Given the description of an element on the screen output the (x, y) to click on. 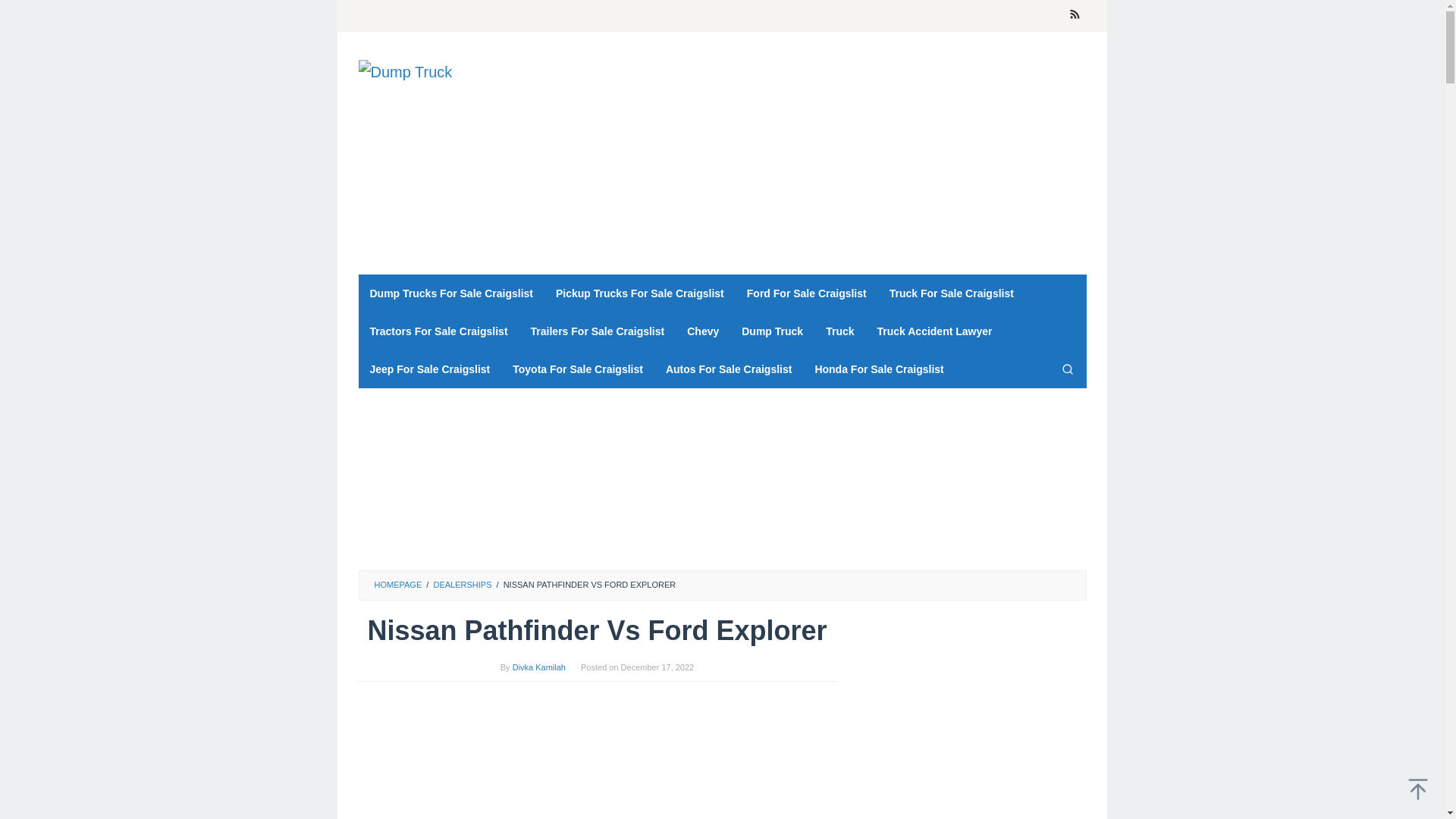
DEALERSHIPS (462, 583)
Jeep For Sale Craigslist (429, 369)
Permalink to: Divka Kamilah (539, 666)
Divka Kamilah (539, 666)
Chevy (702, 331)
Toyota For Sale Craigslist (576, 369)
Ford For Sale Craigslist (806, 293)
Truck Accident Lawyer (935, 331)
Tractors For Sale Craigslist (438, 331)
Honda For Sale Craigslist (879, 369)
HOMEPAGE (398, 583)
Truck (838, 331)
RSS (1074, 15)
Truck For Sale Craigslist (951, 293)
Autos For Sale Craigslist (728, 369)
